Given the description of an element on the screen output the (x, y) to click on. 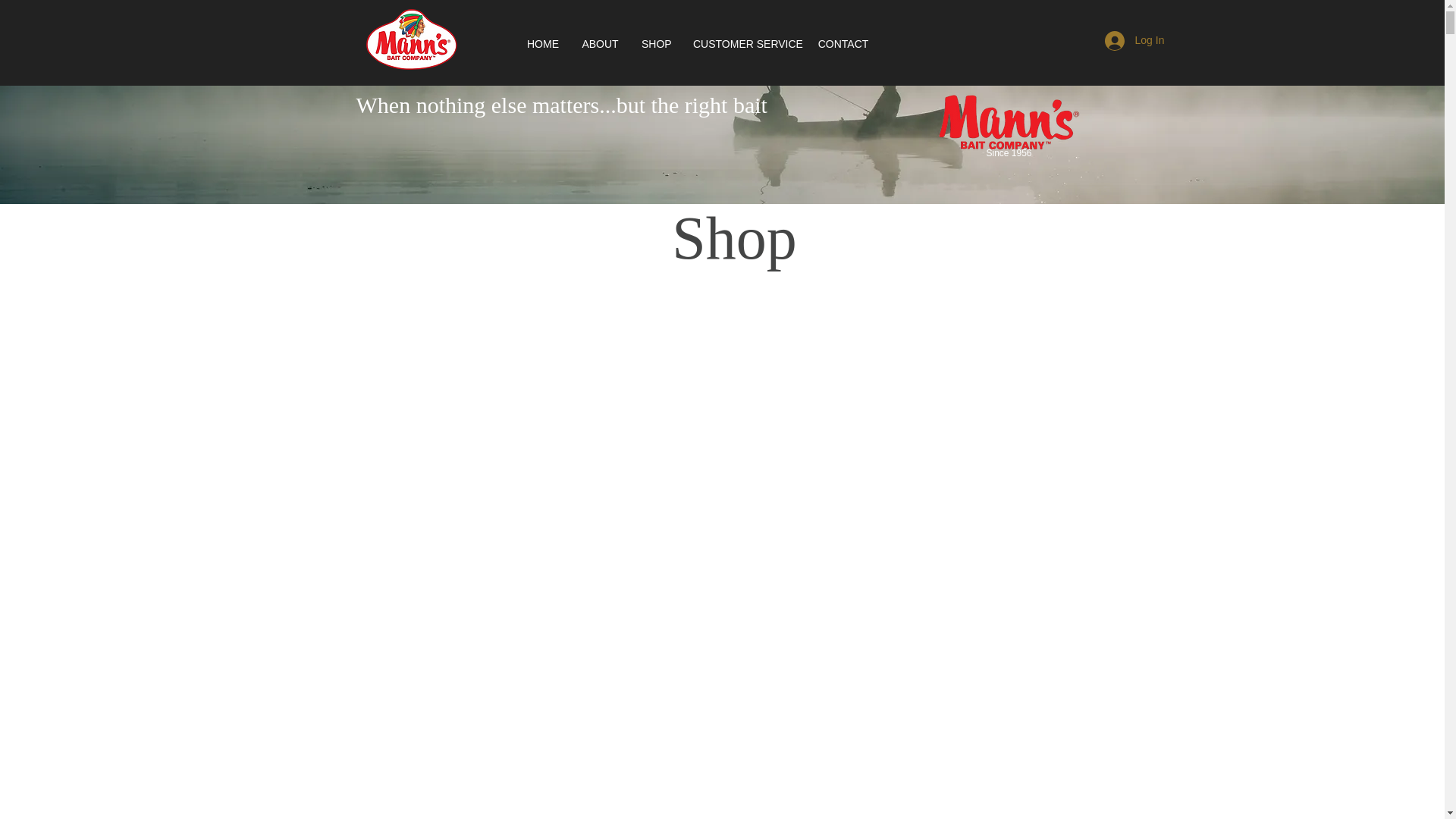
HOME (542, 44)
CONTACT (843, 44)
Log In (1124, 40)
CUSTOMER SERVICE (743, 44)
ABOUT (600, 44)
SHOP (655, 44)
